Given the description of an element on the screen output the (x, y) to click on. 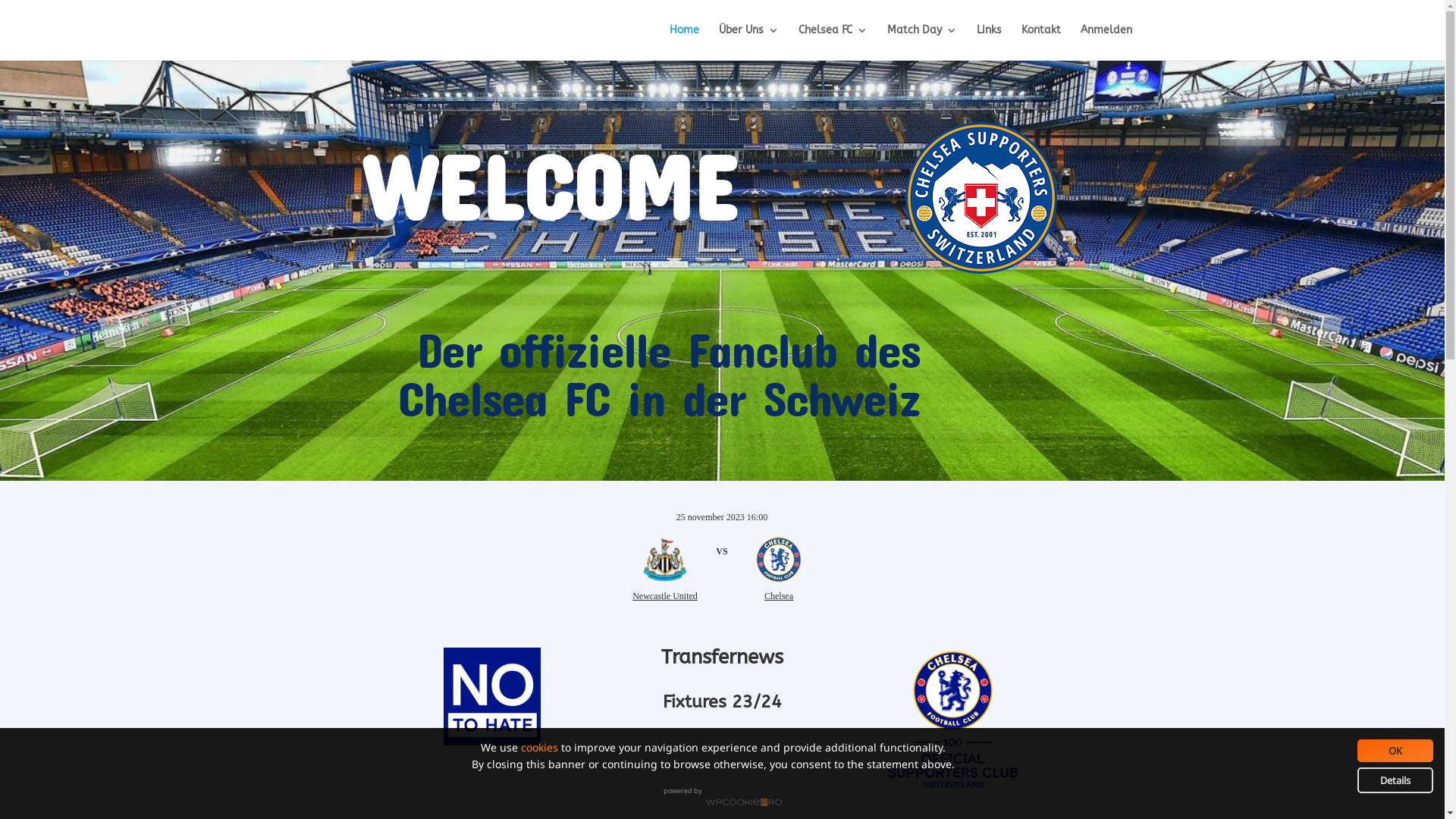
Fixtures 23/24 Element type: text (721, 701)
Details Element type: text (1395, 780)
Anmelden Element type: text (1105, 42)
Home Element type: text (683, 42)
Links Element type: text (988, 42)
Match Day Element type: text (922, 42)
Kontakt Element type: text (1040, 42)
WPCookiePro Element type: text (743, 801)
OK Element type: text (1395, 750)
Chelsea FC Element type: text (831, 42)
